Given the description of an element on the screen output the (x, y) to click on. 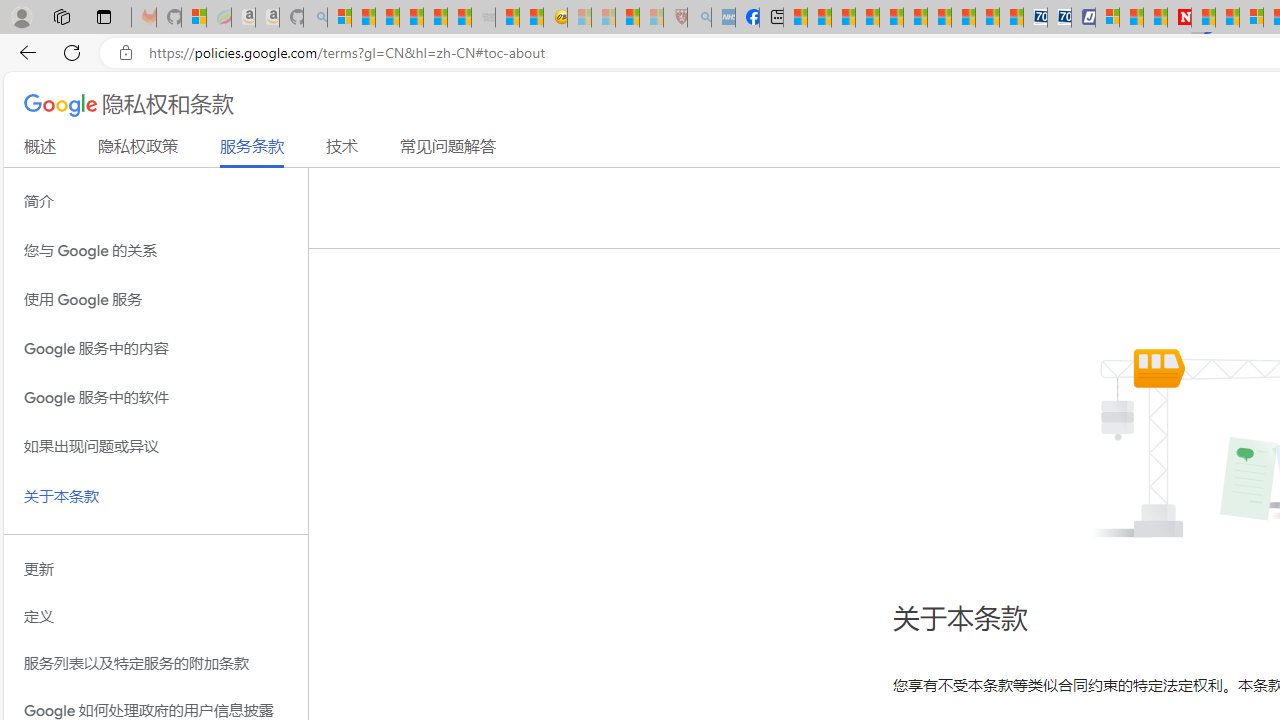
Newsweek - News, Analysis, Politics, Business, Technology (1179, 17)
Cheap Car Rentals - Save70.com (1035, 17)
14 Common Myths Debunked By Scientific Facts (1227, 17)
